Given the description of an element on the screen output the (x, y) to click on. 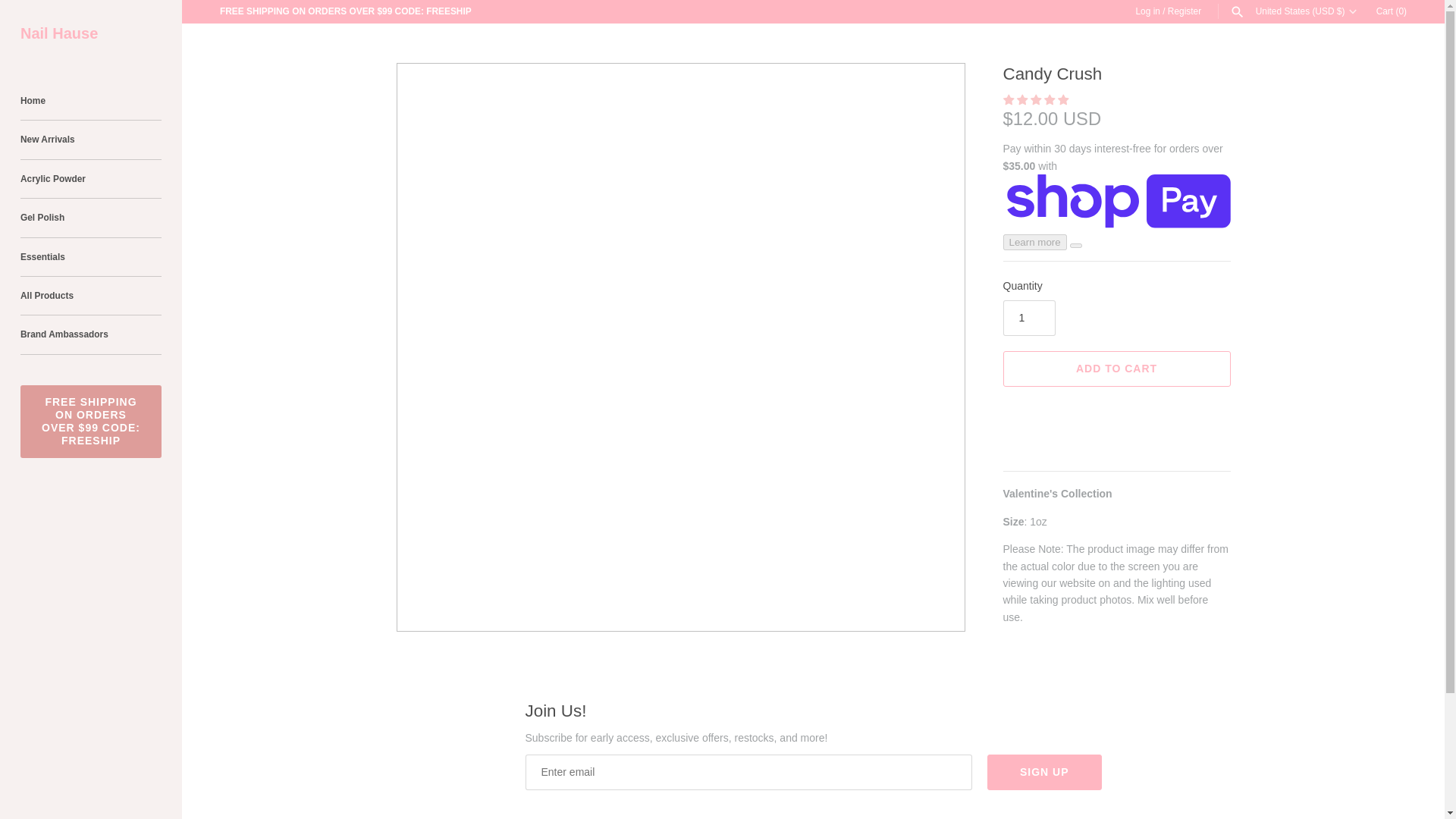
Register (1184, 10)
Nail Hause (91, 33)
Log in (1146, 10)
1 (1028, 317)
